Given the description of an element on the screen output the (x, y) to click on. 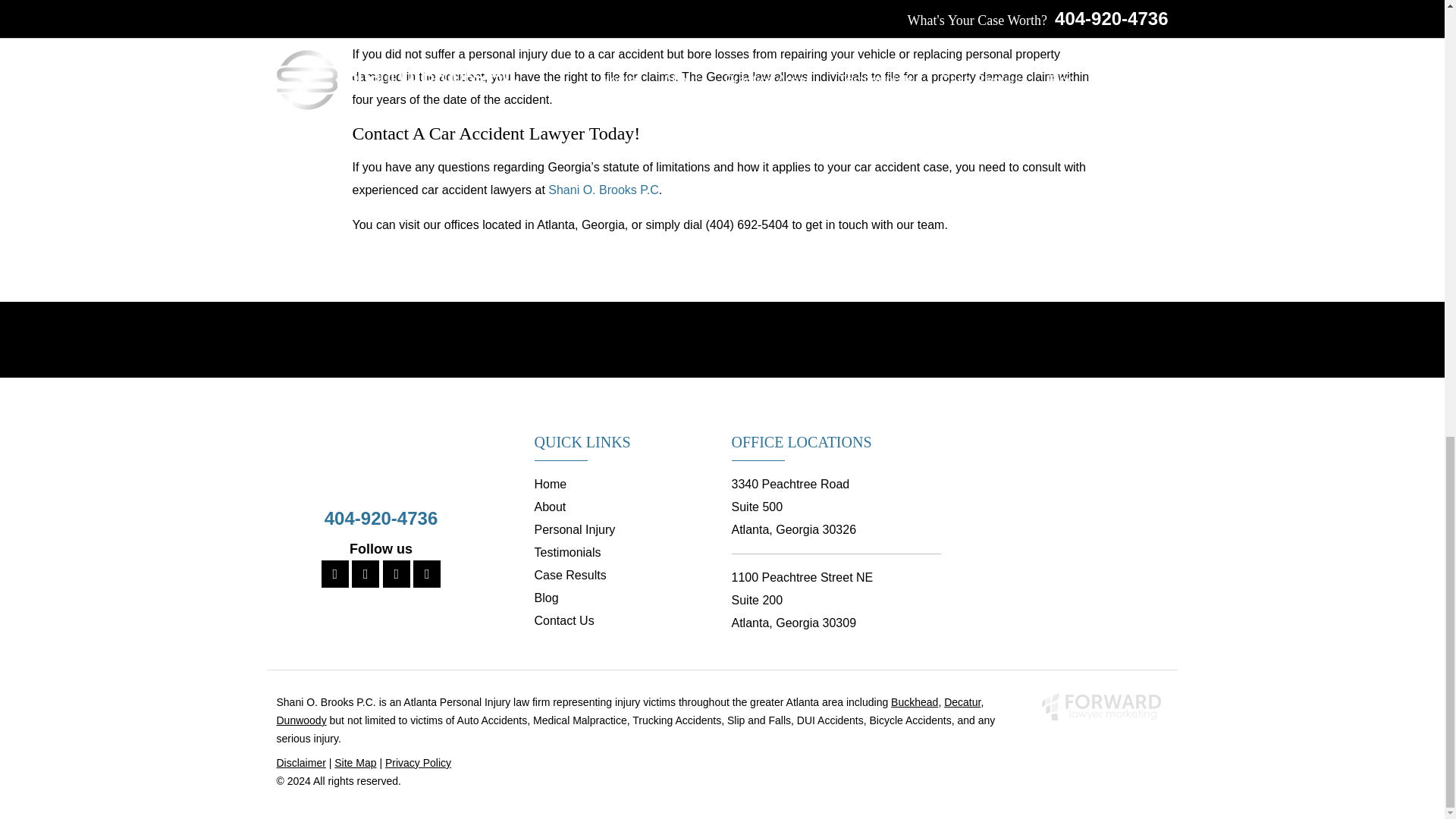
Home (550, 483)
Personal Injury (574, 529)
About (550, 506)
Shani O. Brooks P.C (603, 189)
Case Results (569, 574)
Testimonials (566, 552)
404-920-4736 (381, 517)
